Given the description of an element on the screen output the (x, y) to click on. 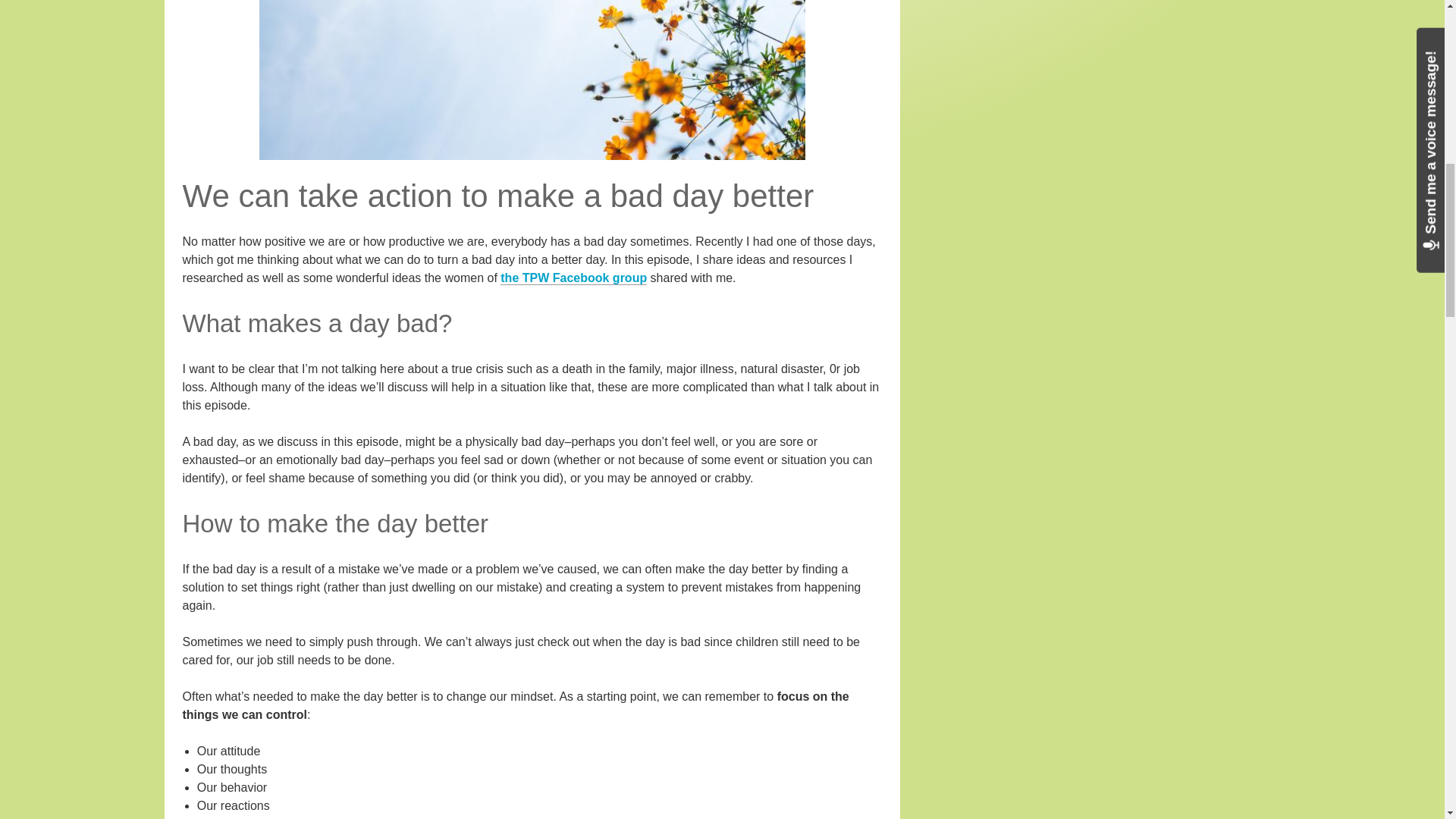
the TPW Facebook group (573, 278)
